Given the description of an element on the screen output the (x, y) to click on. 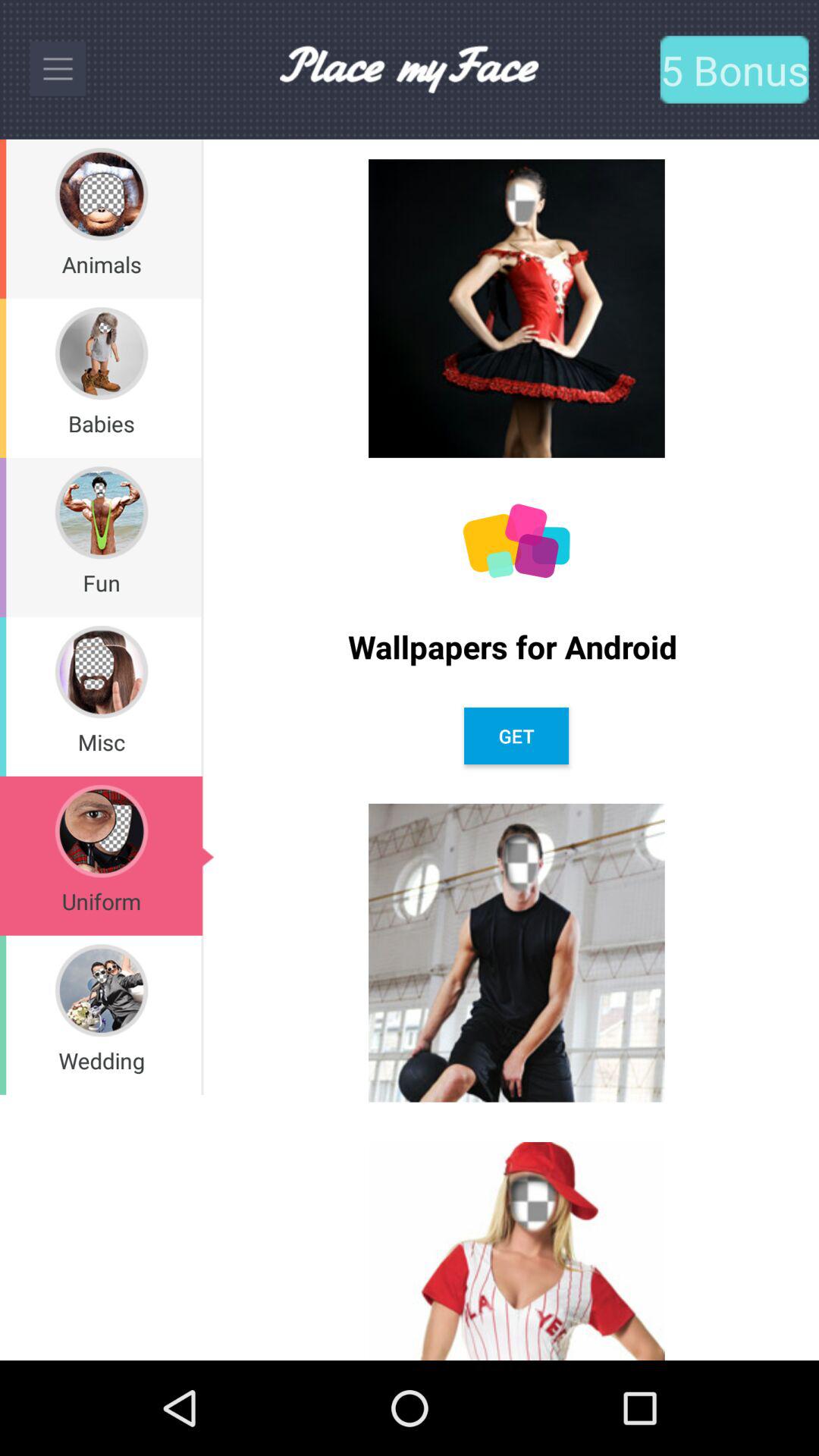
toggle to options switch to menu (57, 69)
